Given the description of an element on the screen output the (x, y) to click on. 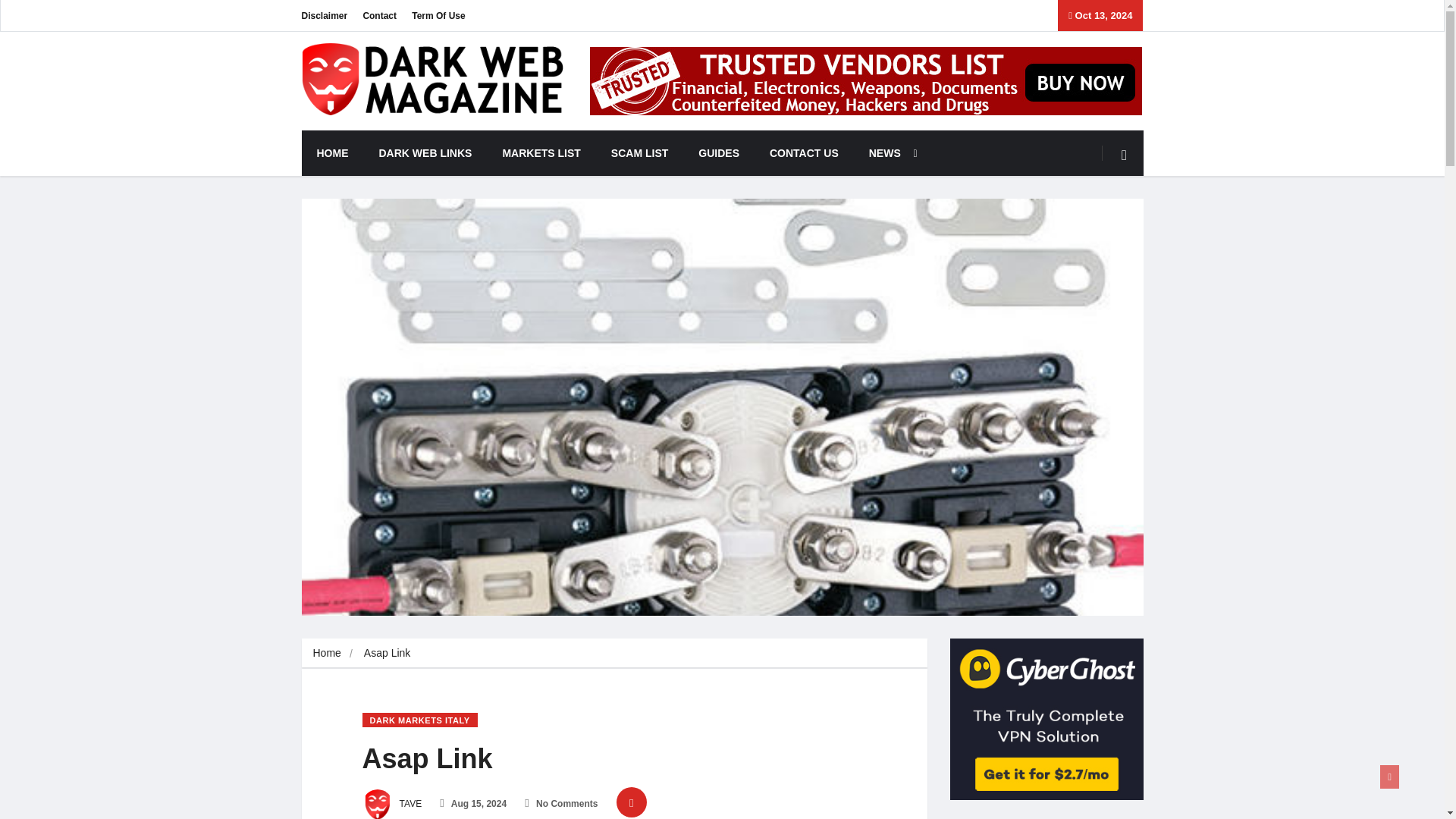
DARK WEB LINKS (425, 153)
Contact (379, 15)
TAVE (392, 803)
Disclaimer (324, 15)
HOME (332, 153)
CONTACT US (803, 153)
MARKETS LIST (540, 153)
DARK MARKETS ITALY (419, 719)
GUIDES (718, 153)
Home (326, 653)
SCAM LIST (638, 153)
Term Of Use (438, 15)
NEWS (888, 153)
